Given the description of an element on the screen output the (x, y) to click on. 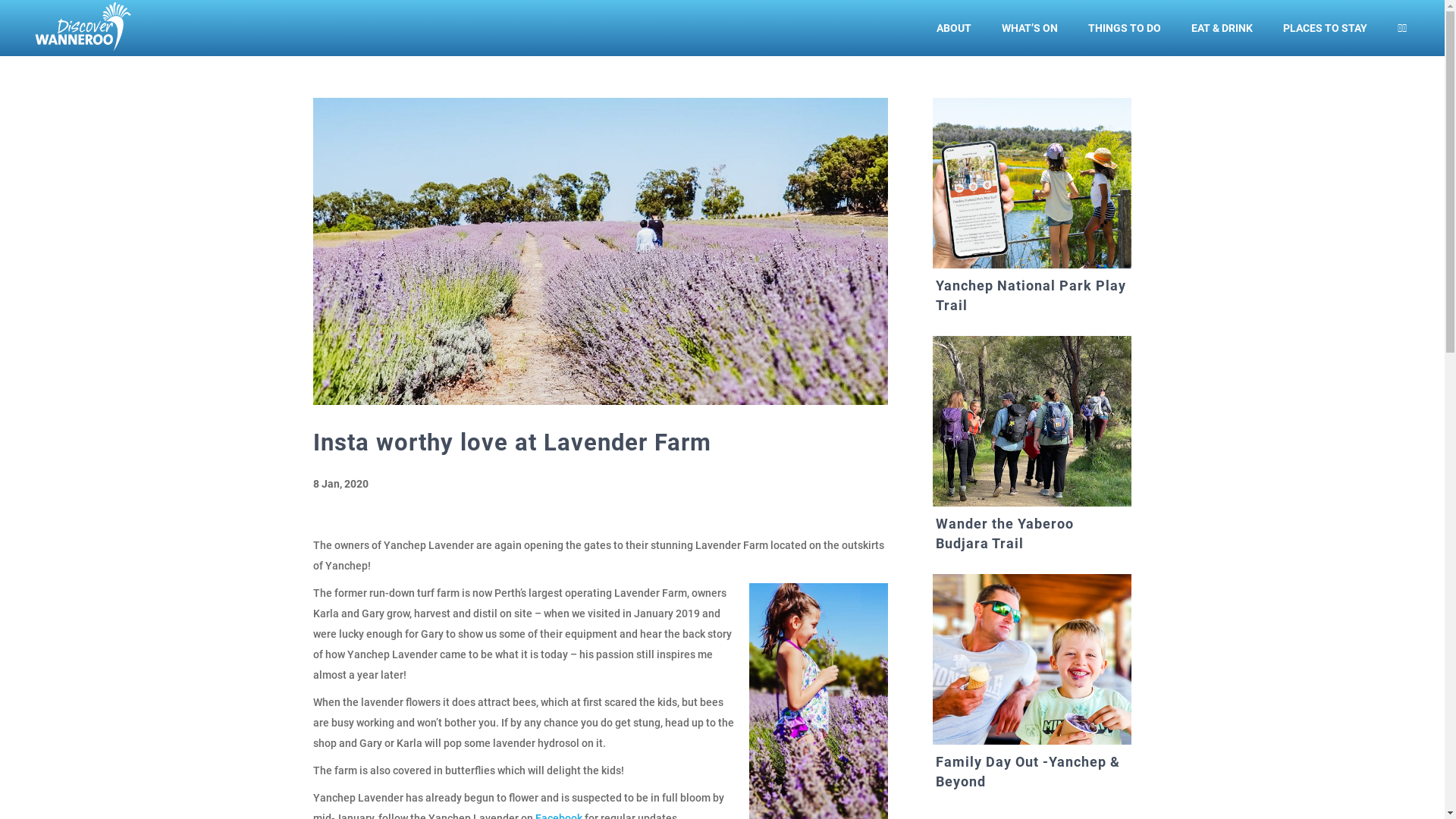
PLACES TO STAY Element type: text (1325, 39)
Family Day Out -Yanchep & Beyond Element type: text (1027, 771)
EAT & DRINK Element type: text (1221, 39)
THINGS TO DO Element type: text (1124, 39)
Lavender Buggy 3 Element type: hover (600, 250)
Yanchep National Park Play Trail Element type: text (1030, 295)
Wander the Yaberoo Budjara Trail Element type: text (1004, 533)
ABOUT Element type: text (953, 39)
